Given the description of an element on the screen output the (x, y) to click on. 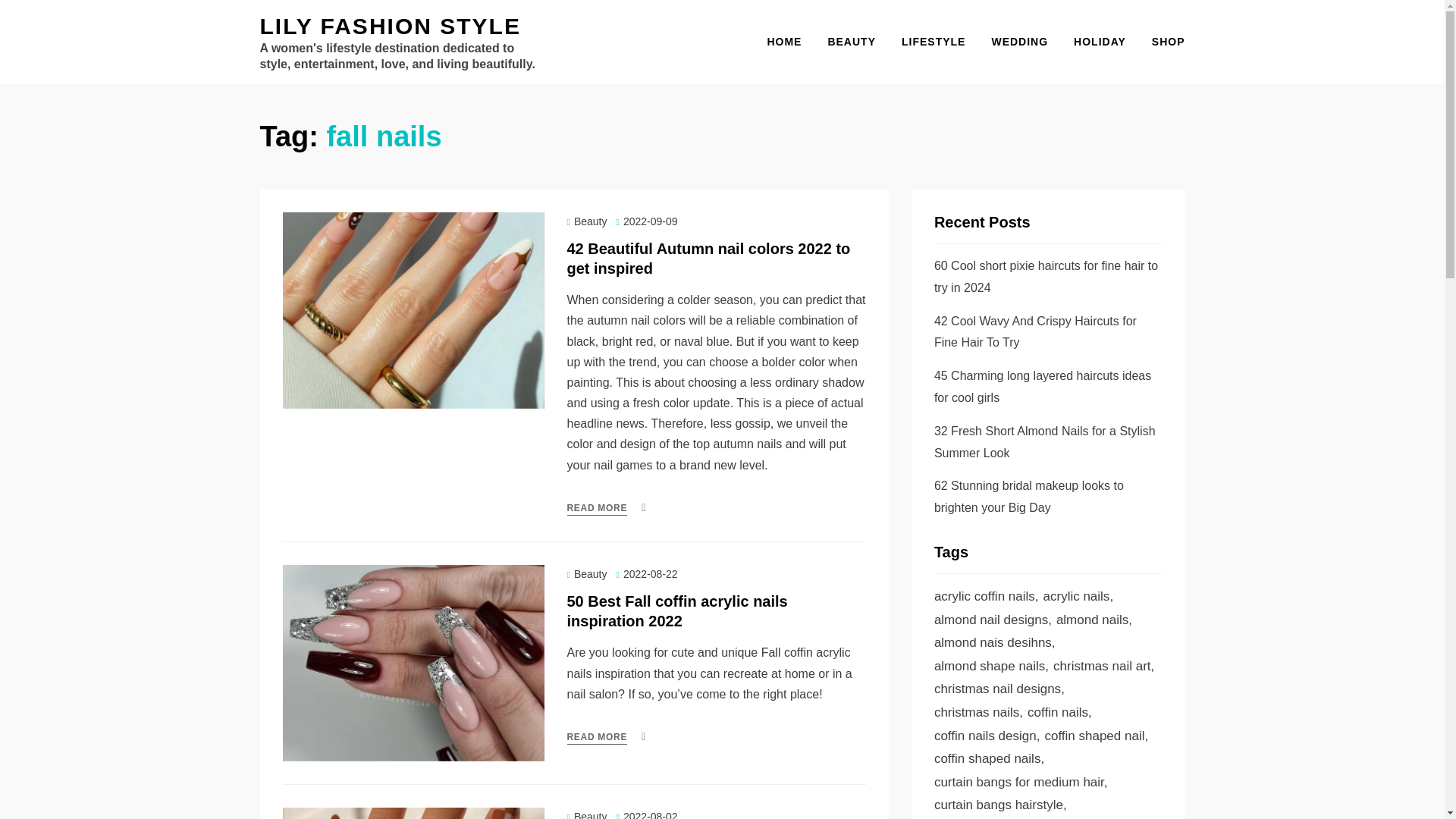
BEAUTY (850, 41)
Lily Fashion Style (389, 25)
Beauty (587, 573)
Beauty (587, 814)
2022-09-09 (646, 221)
50 Best Fall coffin acrylic nails inspiration 2022 (677, 610)
HOLIDAY (1099, 41)
2022-08-02 (646, 814)
2022-08-22 (646, 573)
HOME (783, 41)
